Given the description of an element on the screen output the (x, y) to click on. 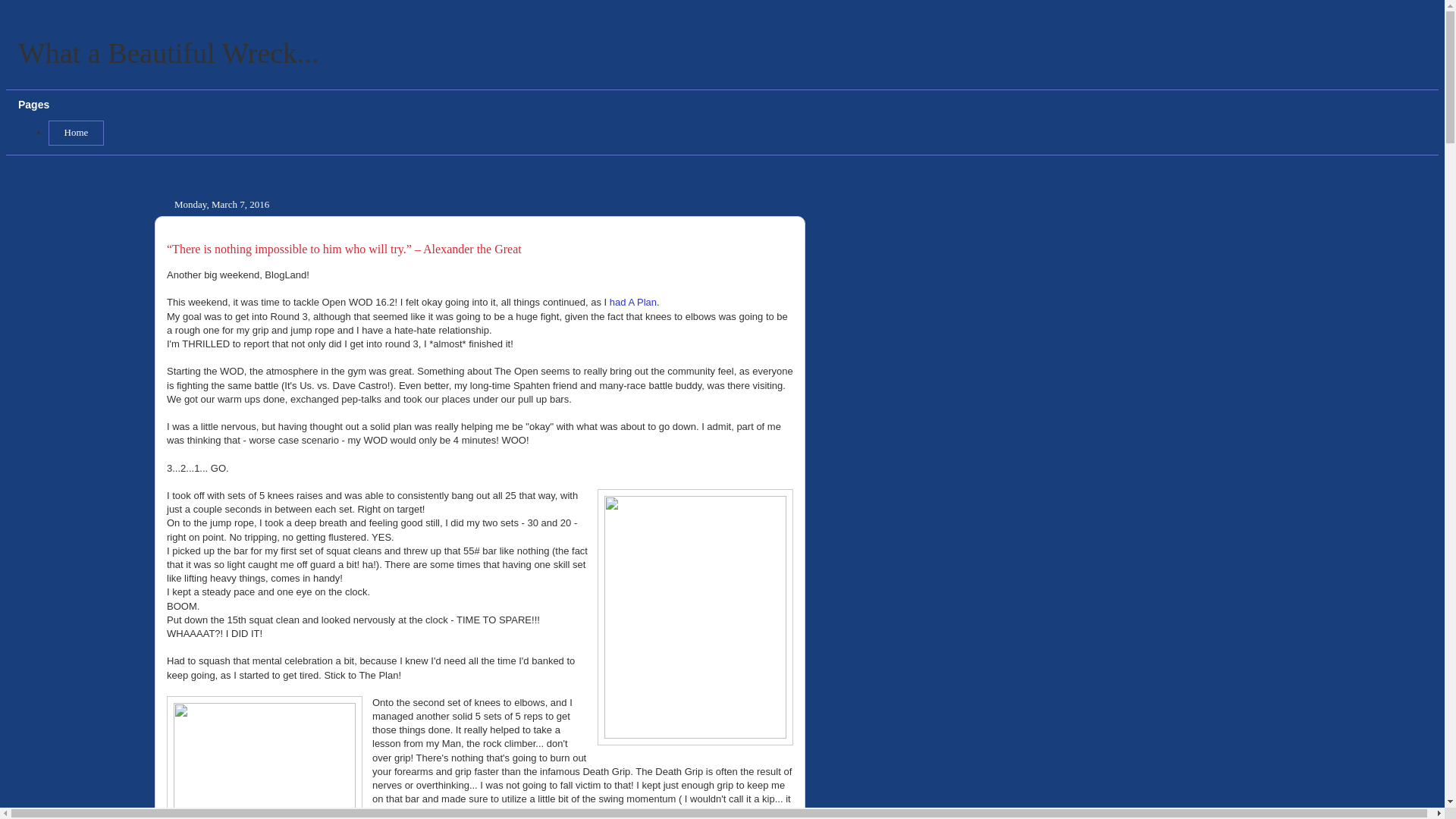
What a Beautiful Wreck... (167, 52)
Home (75, 133)
had A Plan (633, 301)
